Given the description of an element on the screen output the (x, y) to click on. 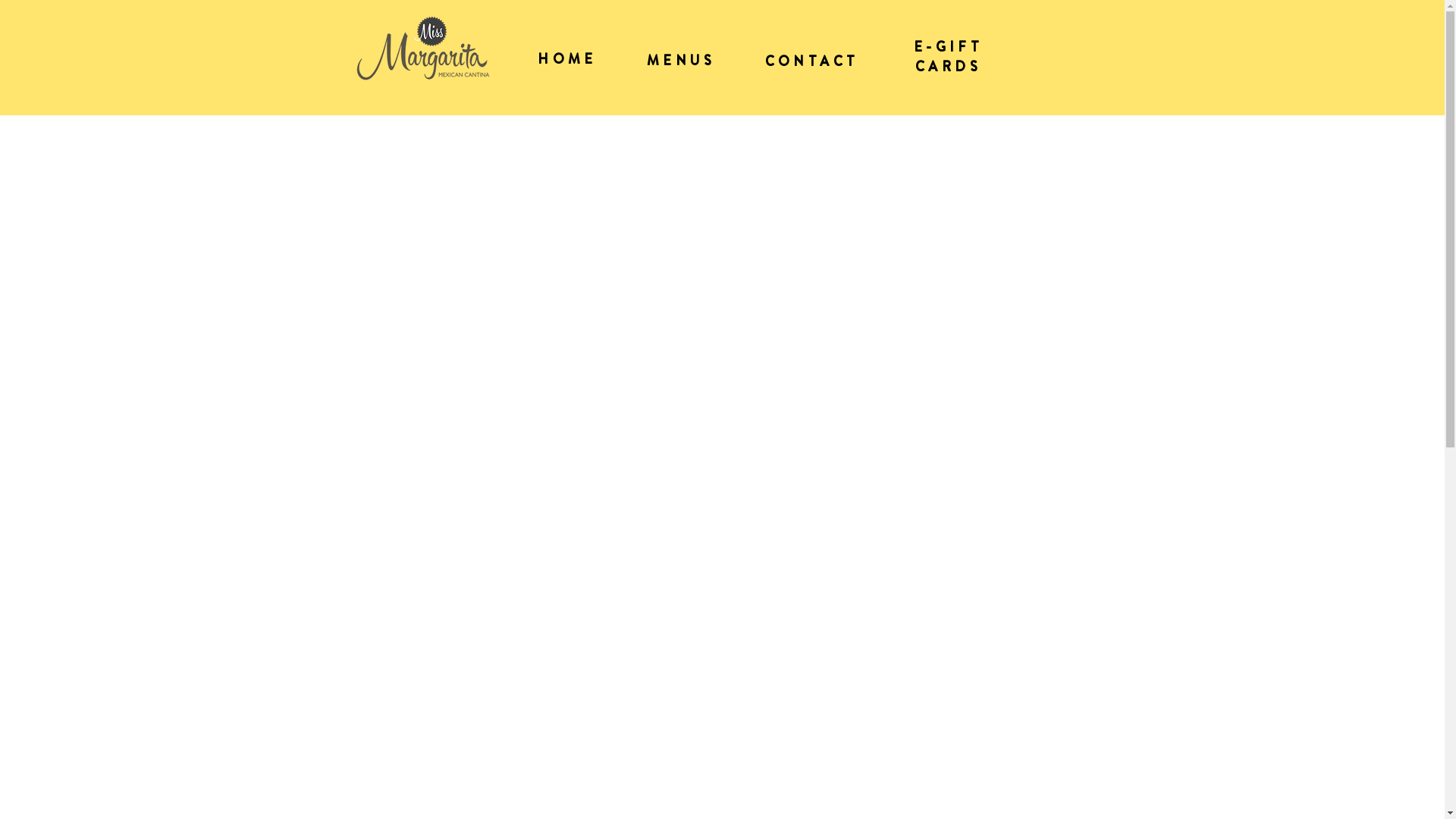
MENUS Element type: text (680, 61)
CONTACT Element type: text (812, 61)
HOME Element type: text (566, 59)
E-GIFT CARDS Element type: text (947, 57)
web logo rgb.png Element type: hover (422, 47)
